Given the description of an element on the screen output the (x, y) to click on. 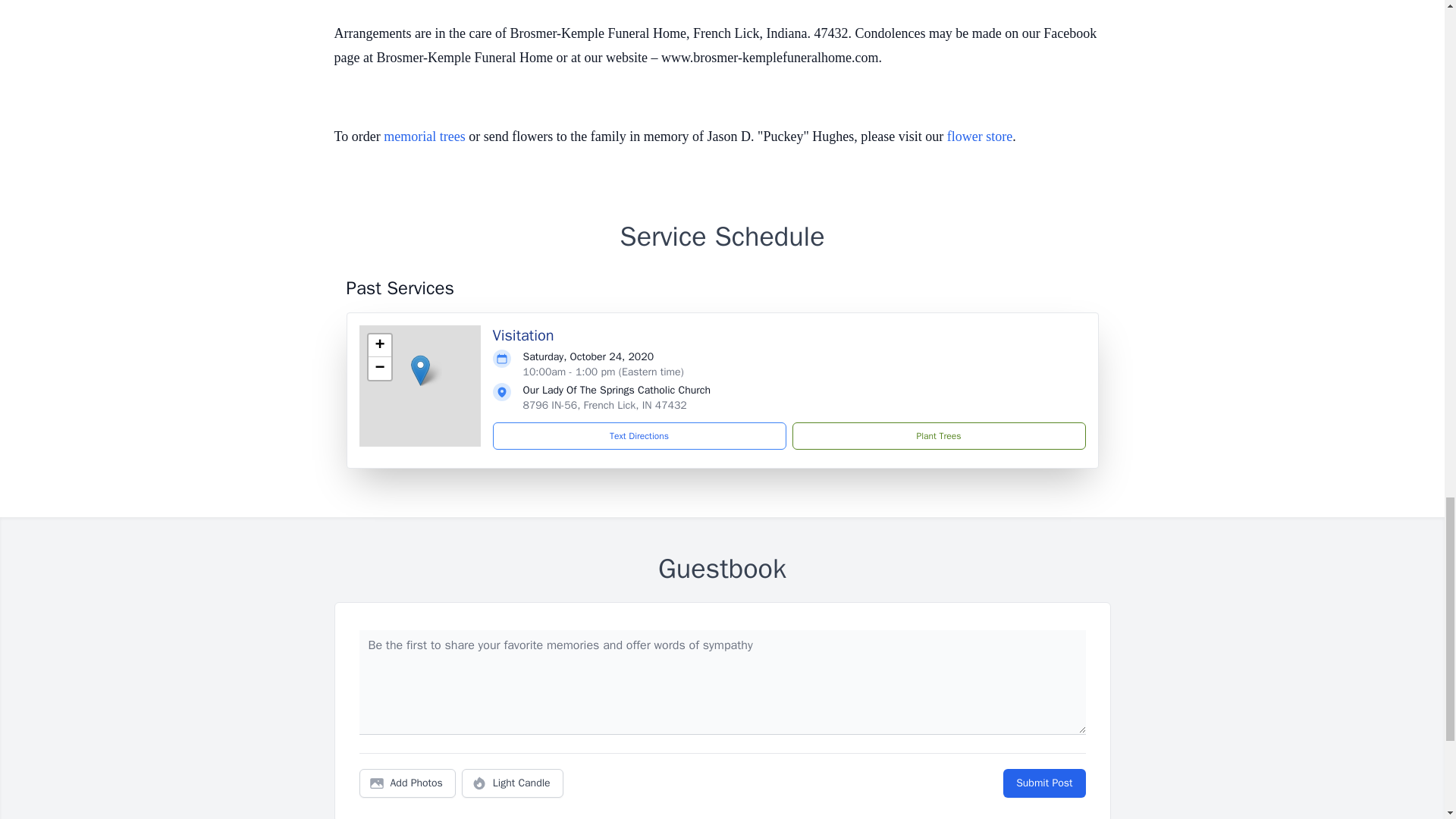
flower store (979, 136)
Text Directions (639, 435)
8796 IN-56, French Lick, IN 47432 (604, 404)
Zoom in (379, 345)
memorial trees (424, 136)
Submit Post (1043, 783)
Zoom out (379, 368)
Add Photos (407, 783)
Light Candle (512, 783)
Plant Trees (938, 435)
